Given the description of an element on the screen output the (x, y) to click on. 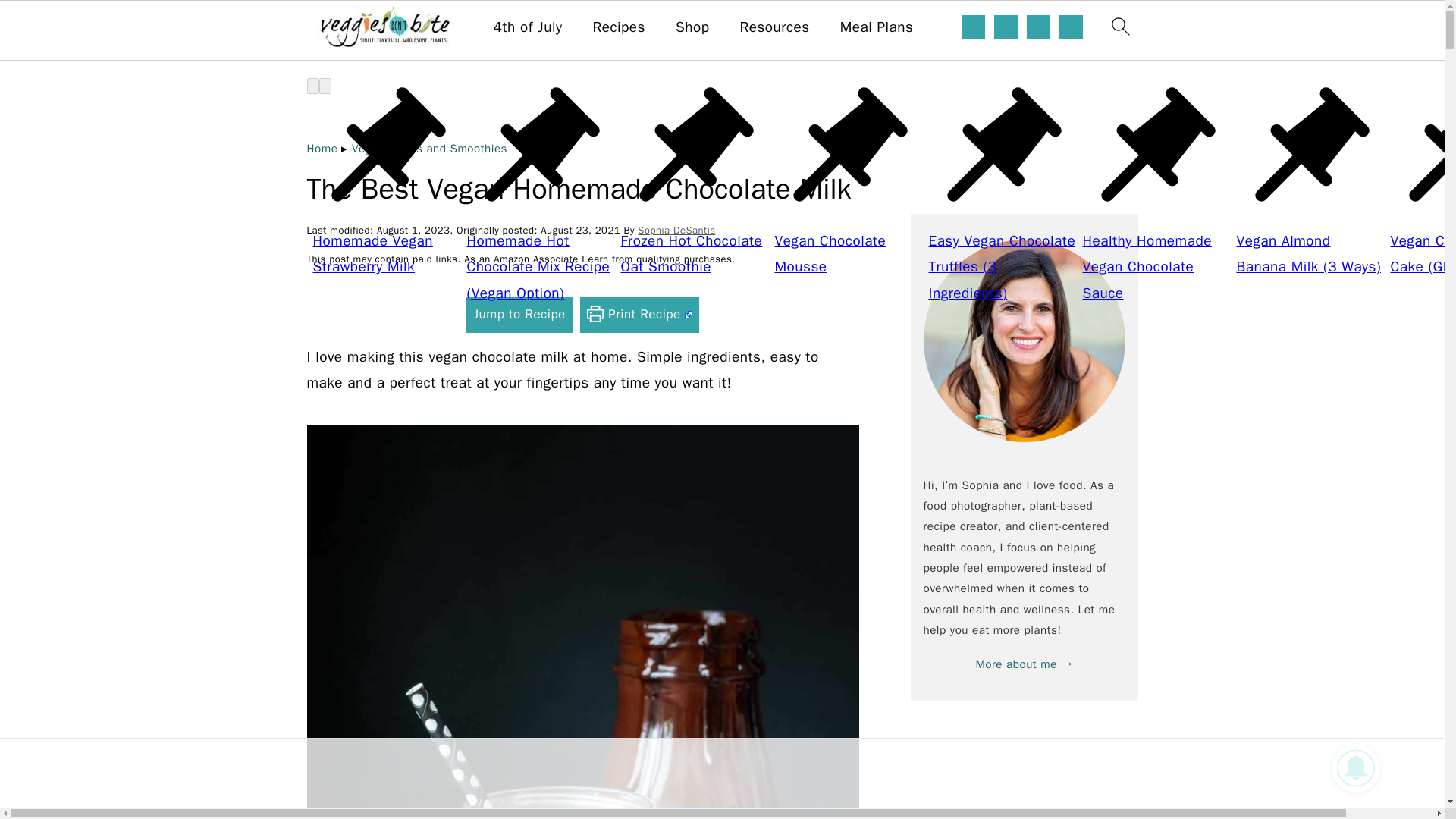
Shop (692, 27)
4th of July (527, 27)
Resources (774, 27)
search icon (1119, 26)
Recipes (618, 27)
Jump to Recipe (518, 314)
Print Recipe (638, 314)
Meal Plans (877, 27)
Vegan Drinks and Smoothies (429, 148)
Home (321, 148)
Sophia DeSantis (675, 229)
